Given the description of an element on the screen output the (x, y) to click on. 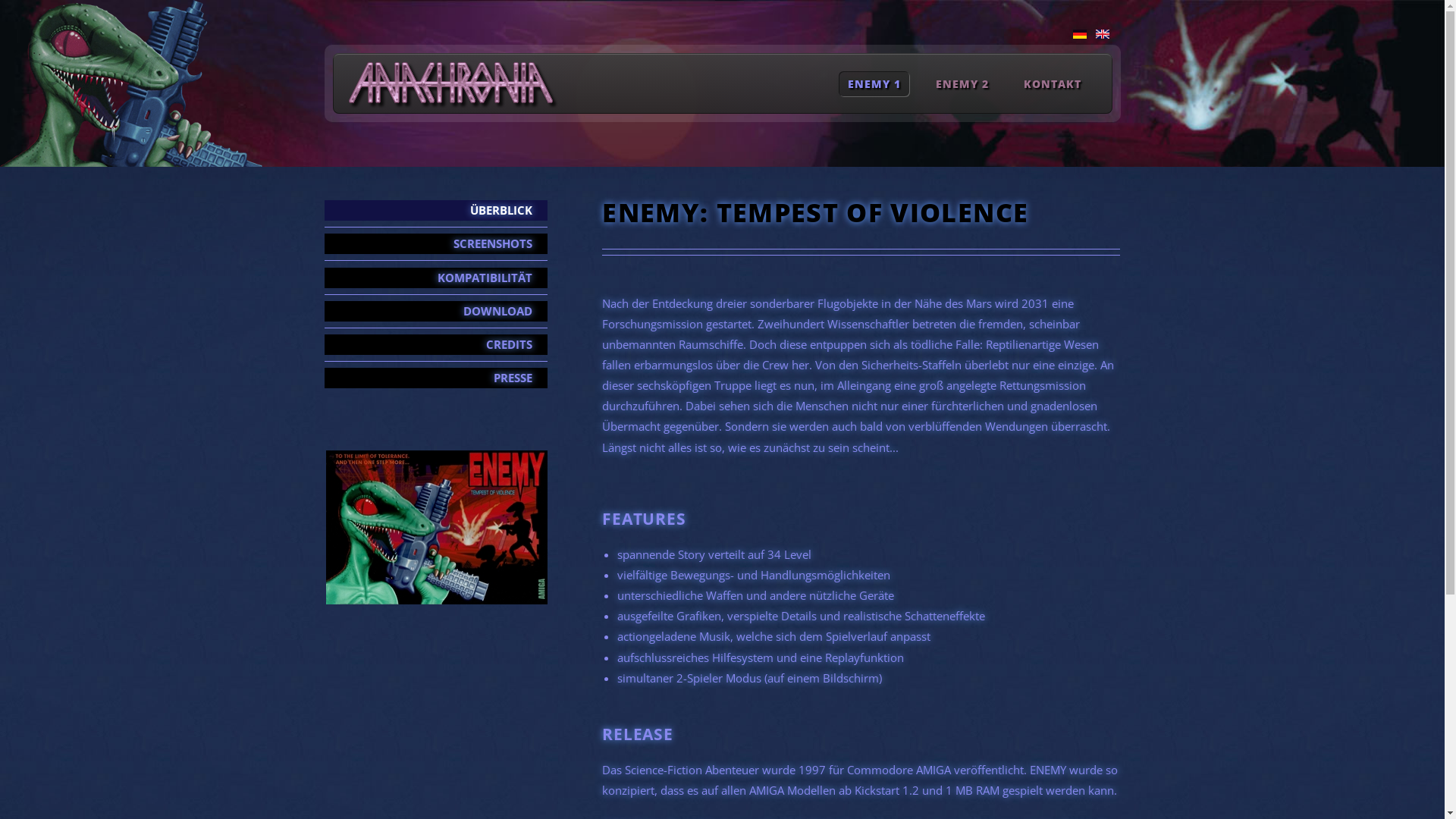
PRESSE Element type: text (436, 377)
KONTAKT Element type: text (1052, 83)
ENEMY 2 Element type: text (962, 83)
DOWNLOAD Element type: text (436, 311)
ENEMY 1 Element type: text (873, 83)
SCREENSHOTS Element type: text (436, 243)
CREDITS Element type: text (436, 344)
